Given the description of an element on the screen output the (x, y) to click on. 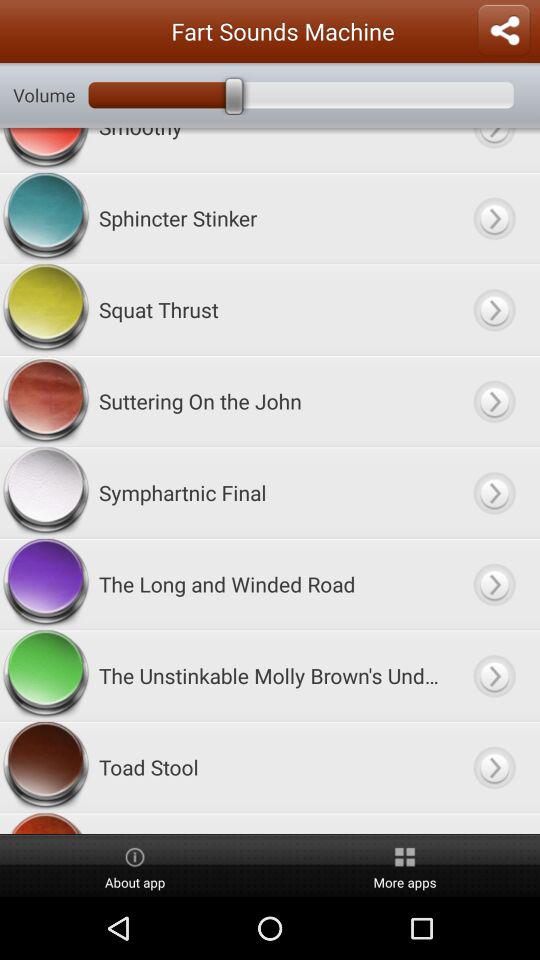
click the item next to fart sounds machine (503, 31)
